Given the description of an element on the screen output the (x, y) to click on. 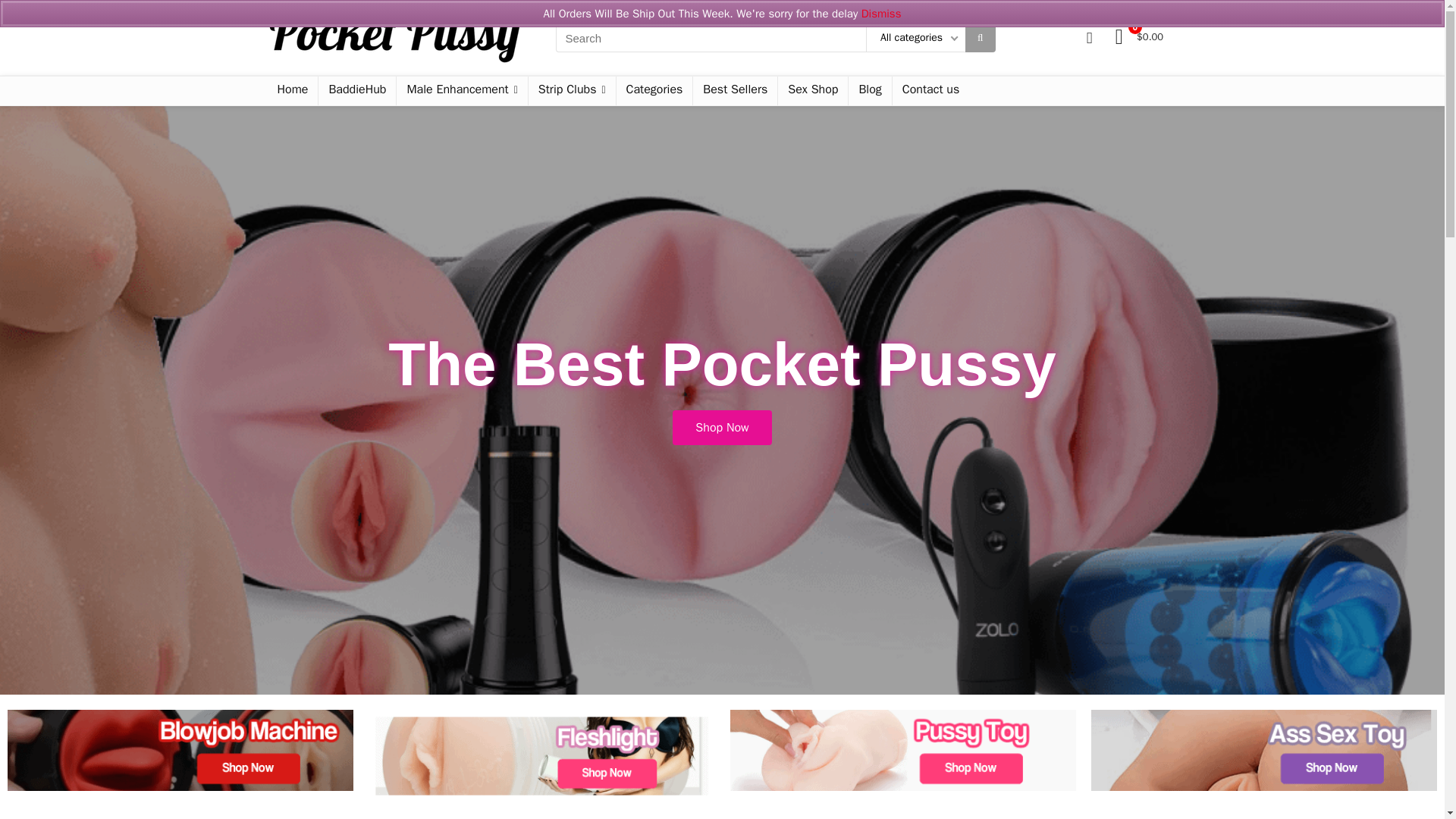
BaddieHub (357, 90)
Best Sellers (735, 90)
Categories (654, 90)
Strip Clubs (571, 90)
Contact us (930, 90)
Male Enhancement (461, 90)
Sex Shop (812, 90)
Home (291, 90)
Blog (869, 90)
Shop Now (721, 426)
